Given the description of an element on the screen output the (x, y) to click on. 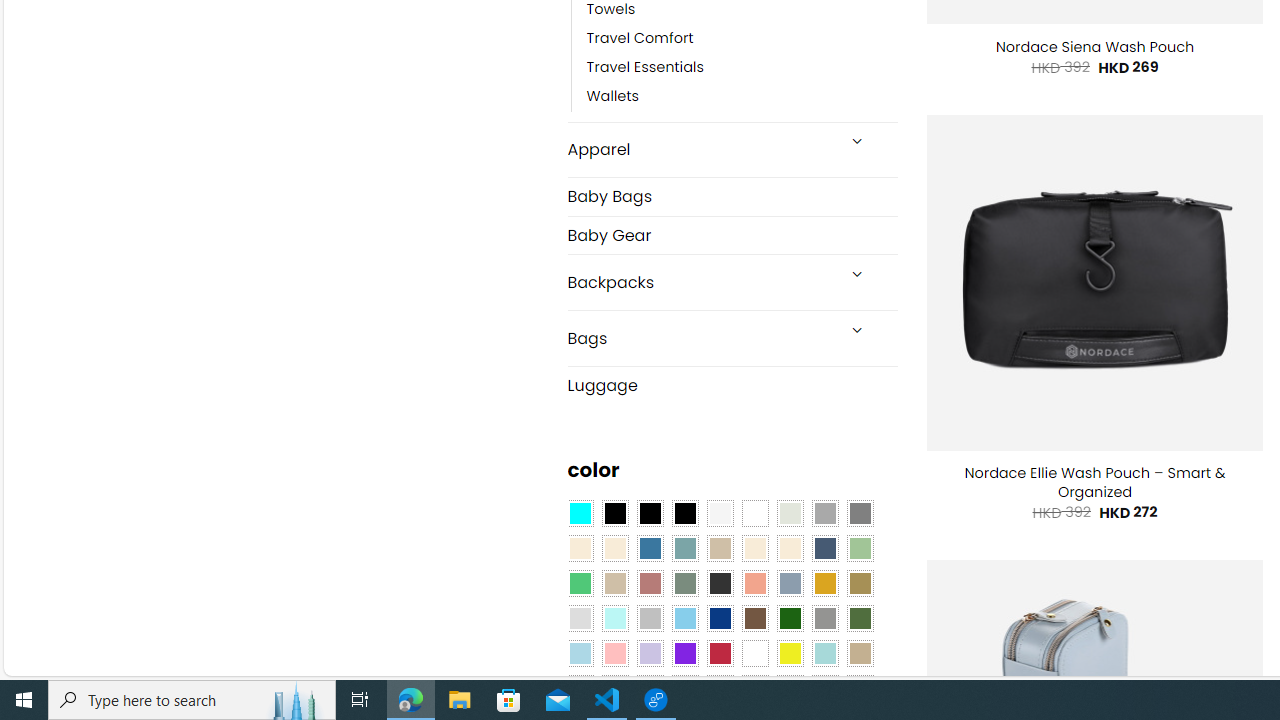
Light Purple (650, 653)
Black-Brown (684, 514)
Travel Essentials (645, 67)
Yellow (789, 653)
Charcoal (719, 583)
Luggage (732, 384)
Aqua Blue (579, 514)
Baby Bags (732, 196)
Purple (684, 653)
Light Green (859, 548)
Nordace Siena Wash Pouch (1094, 47)
Light Gray (579, 619)
Clear (755, 514)
Luggage (732, 384)
Caramel (755, 548)
